Given the description of an element on the screen output the (x, y) to click on. 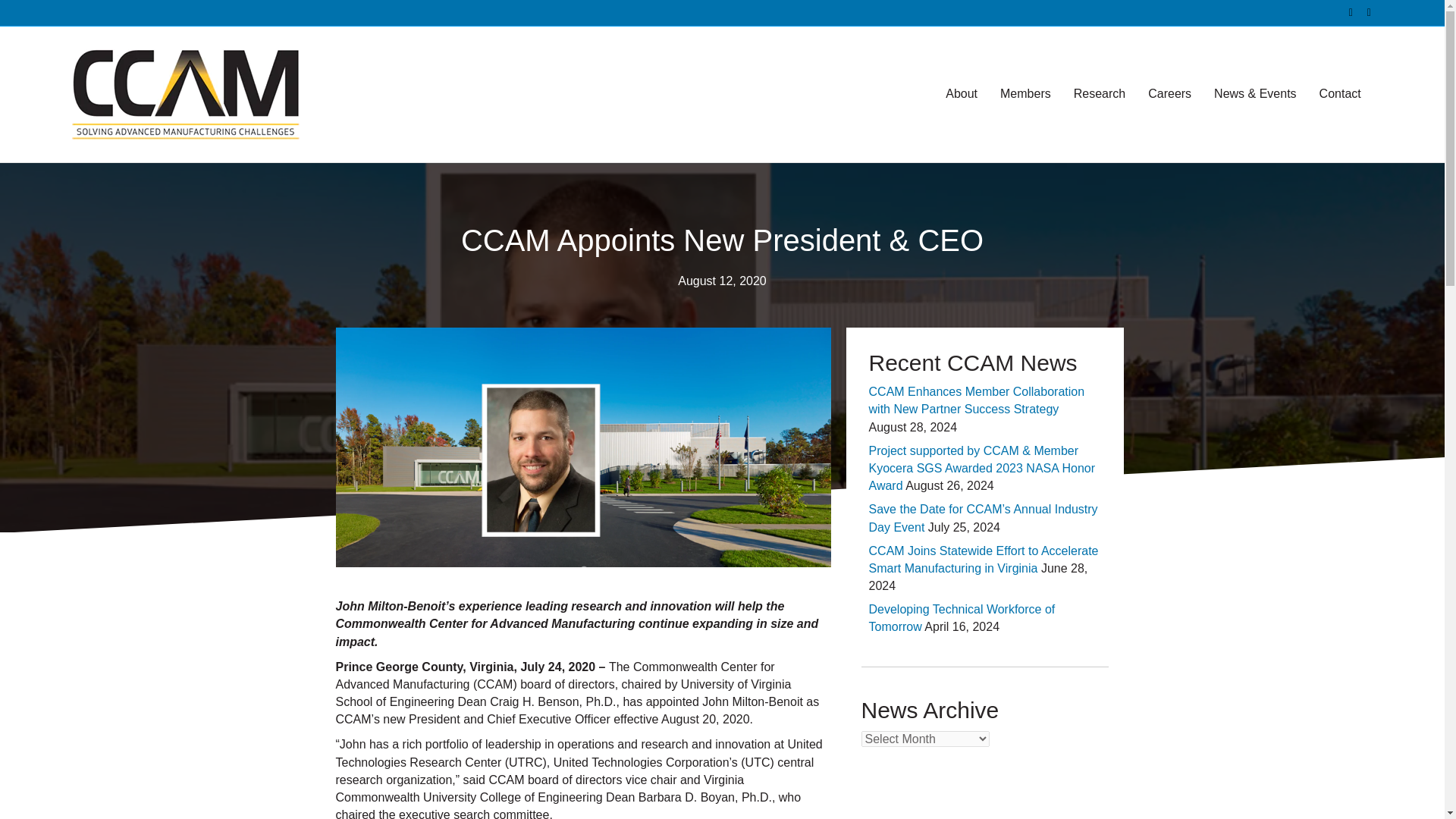
About (961, 93)
site-cover-JMB (581, 447)
Twitter (1343, 11)
Research (1099, 93)
Members (1025, 93)
Linkedin (1361, 11)
